Given the description of an element on the screen output the (x, y) to click on. 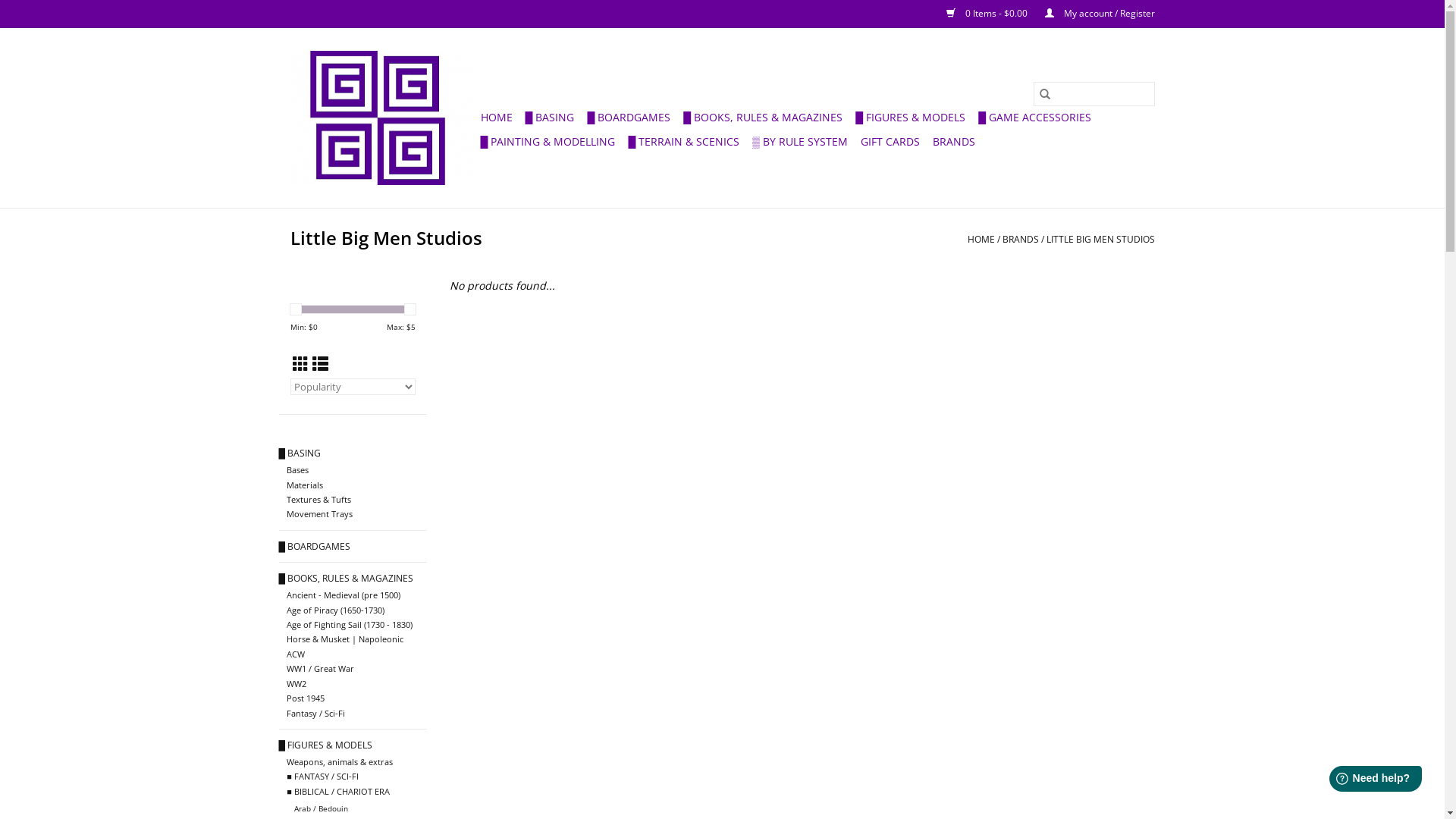
WW1 / Great War Element type: text (320, 668)
Materials Element type: text (304, 484)
Olympian Games Pty Ltd Element type: hover (382, 117)
Age of Fighting Sail (1730 - 1830) Element type: text (349, 624)
Horse & Musket | Napoleonic Element type: text (344, 638)
Textures & Tufts Element type: text (318, 499)
Movement Trays Element type: text (319, 513)
Bases Element type: text (297, 469)
Age of Piracy (1650-1730) Element type: text (335, 609)
BRANDS Element type: text (1020, 238)
Arab / Bedouin Element type: text (321, 808)
HOME Element type: text (980, 238)
Weapons, animals & extras Element type: text (339, 761)
Search Element type: hover (1043, 93)
BRANDS Element type: text (953, 141)
Post 1945 Element type: text (305, 697)
HOME Element type: text (496, 117)
ACW Element type: text (295, 653)
Fantasy / Sci-Fi Element type: text (315, 712)
0 Items - $0.00 Element type: text (980, 12)
Ancient - Medieval (pre 1500) Element type: text (343, 594)
My account / Register Element type: text (1091, 12)
WW2 Element type: text (296, 683)
LITTLE BIG MEN STUDIOS Element type: text (1100, 238)
GIFT CARDS Element type: text (890, 141)
